Given the description of an element on the screen output the (x, y) to click on. 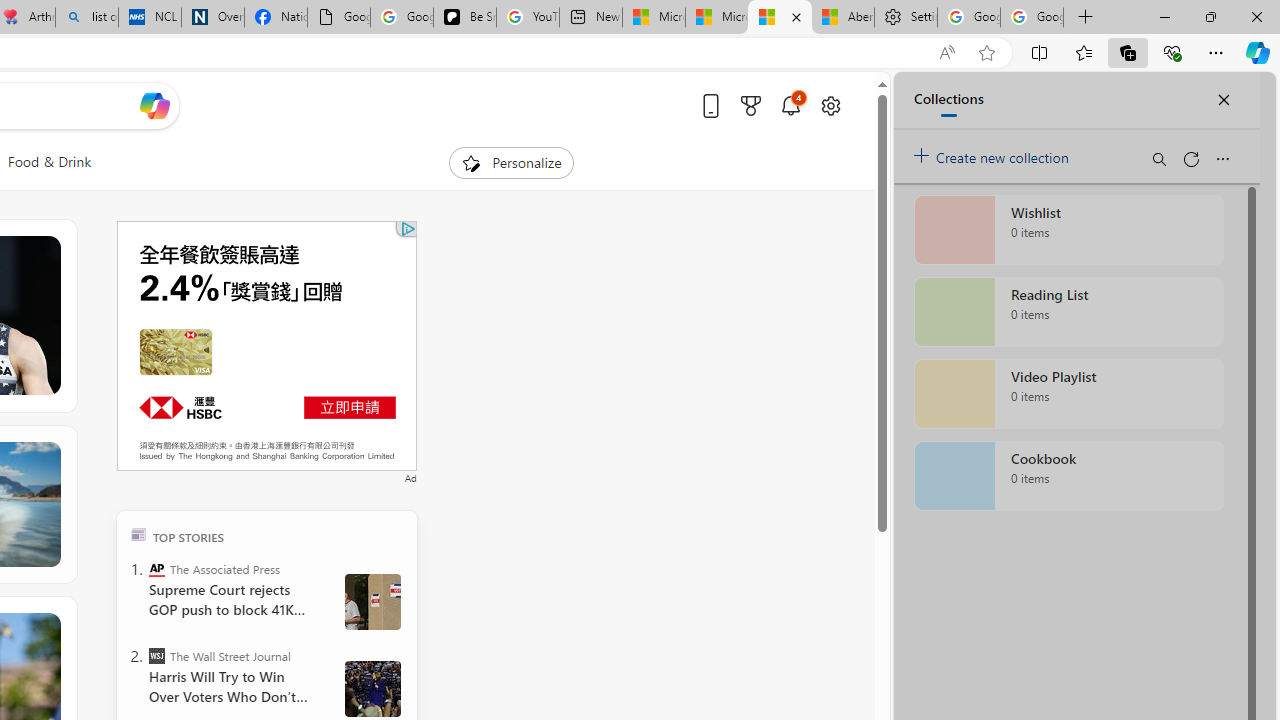
AutomationID: canvas (266, 345)
